Given the description of an element on the screen output the (x, y) to click on. 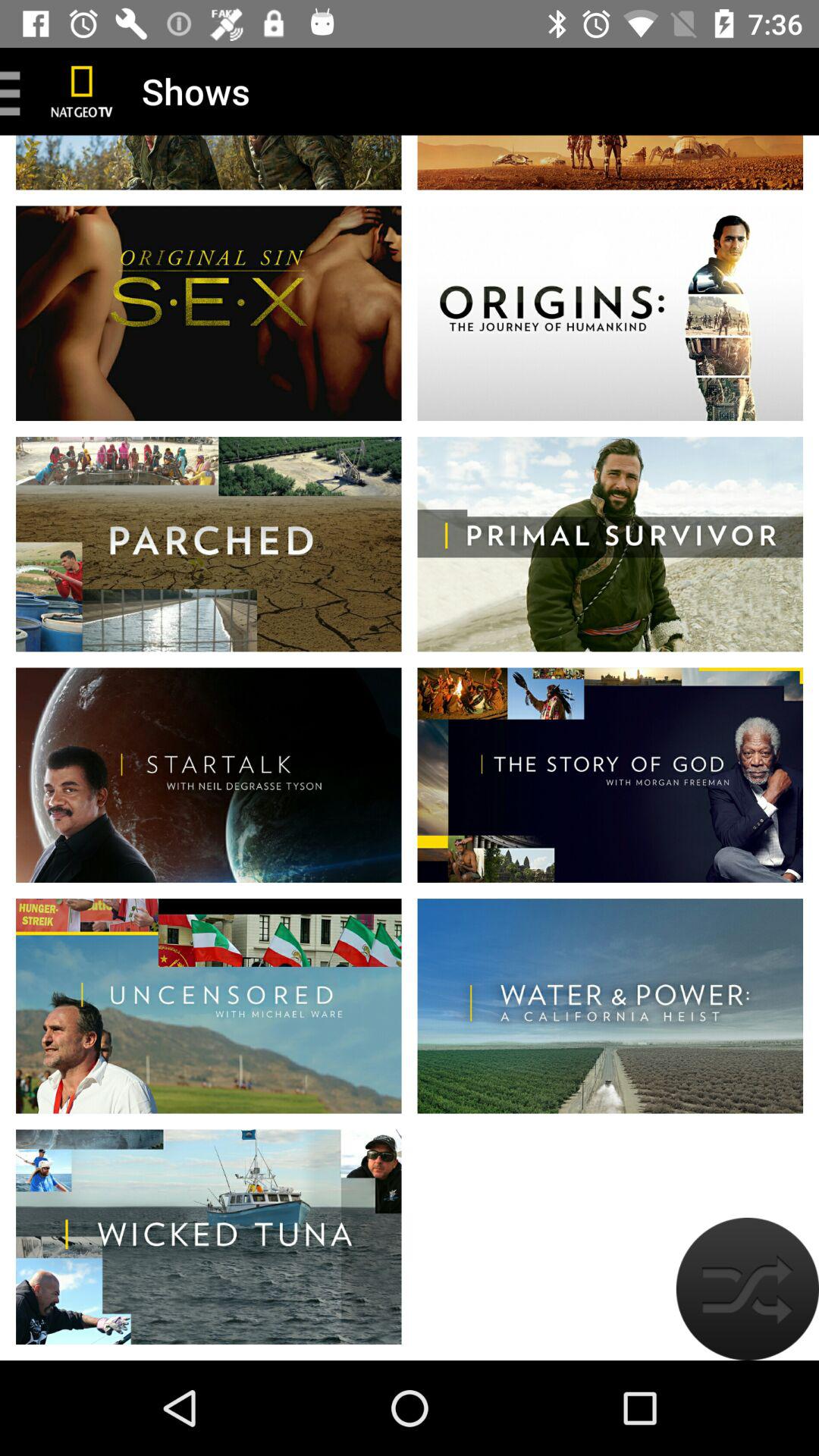
select natgeotv home page (81, 91)
